Given the description of an element on the screen output the (x, y) to click on. 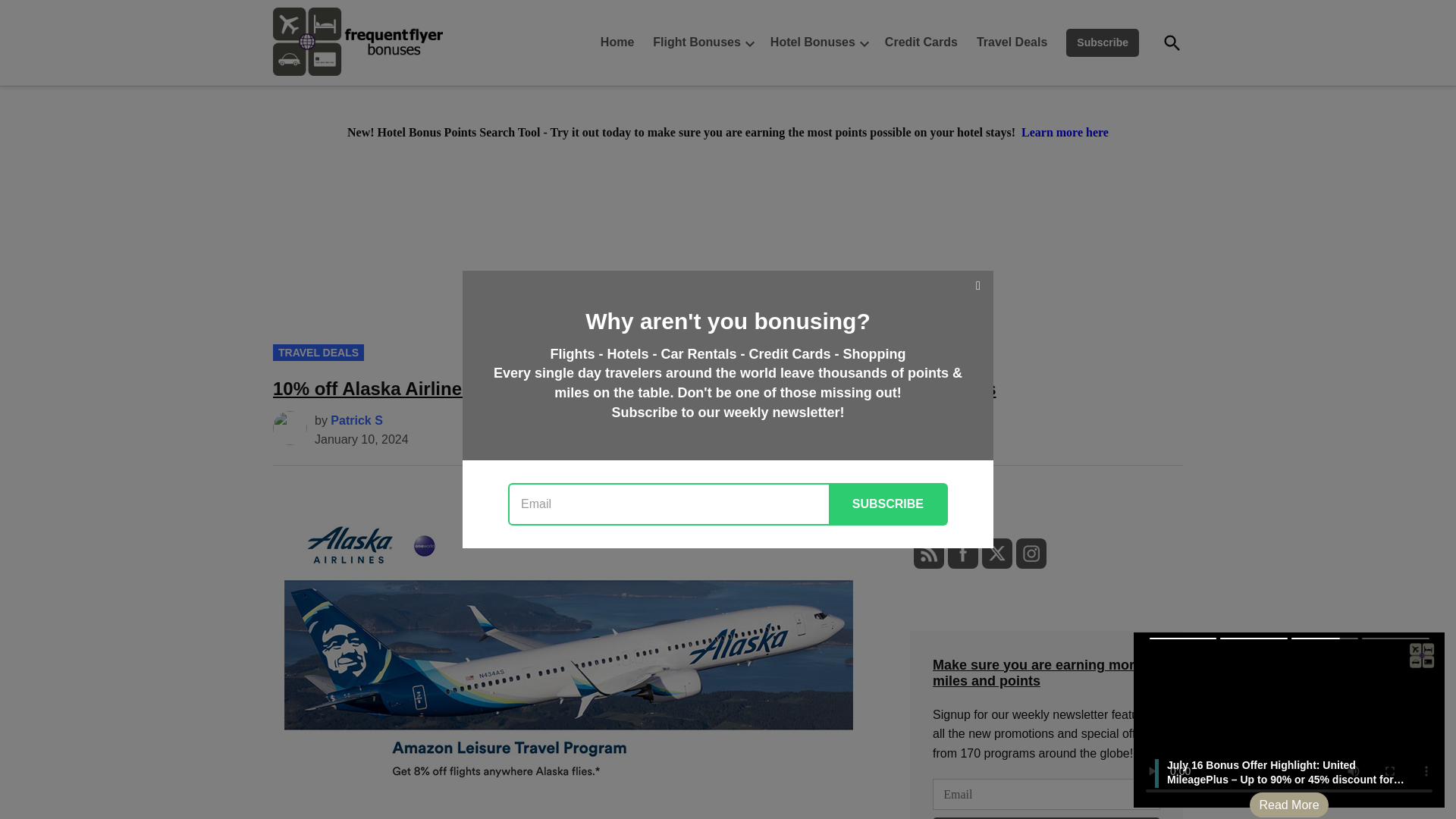
RSS (928, 553)
Home (620, 41)
Twitter (997, 553)
Flight Bonuses (693, 41)
Hotel Bonuses (809, 41)
Facebook (963, 553)
Instagram (1031, 553)
Frequent Flyer Bonuses (488, 74)
